Given the description of an element on the screen output the (x, y) to click on. 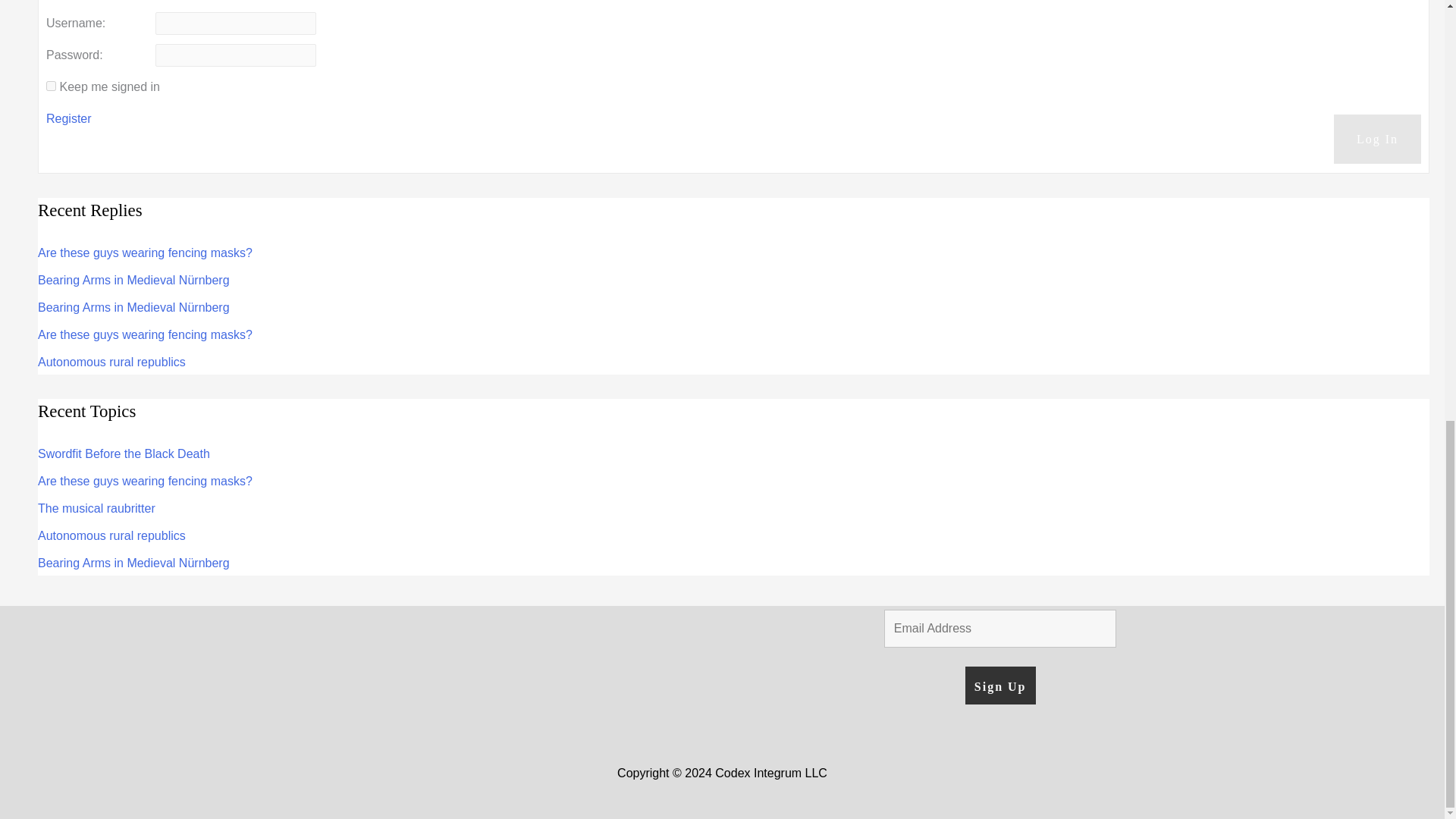
Register (68, 119)
forever (51, 85)
Sign Up (1000, 685)
